Given the description of an element on the screen output the (x, y) to click on. 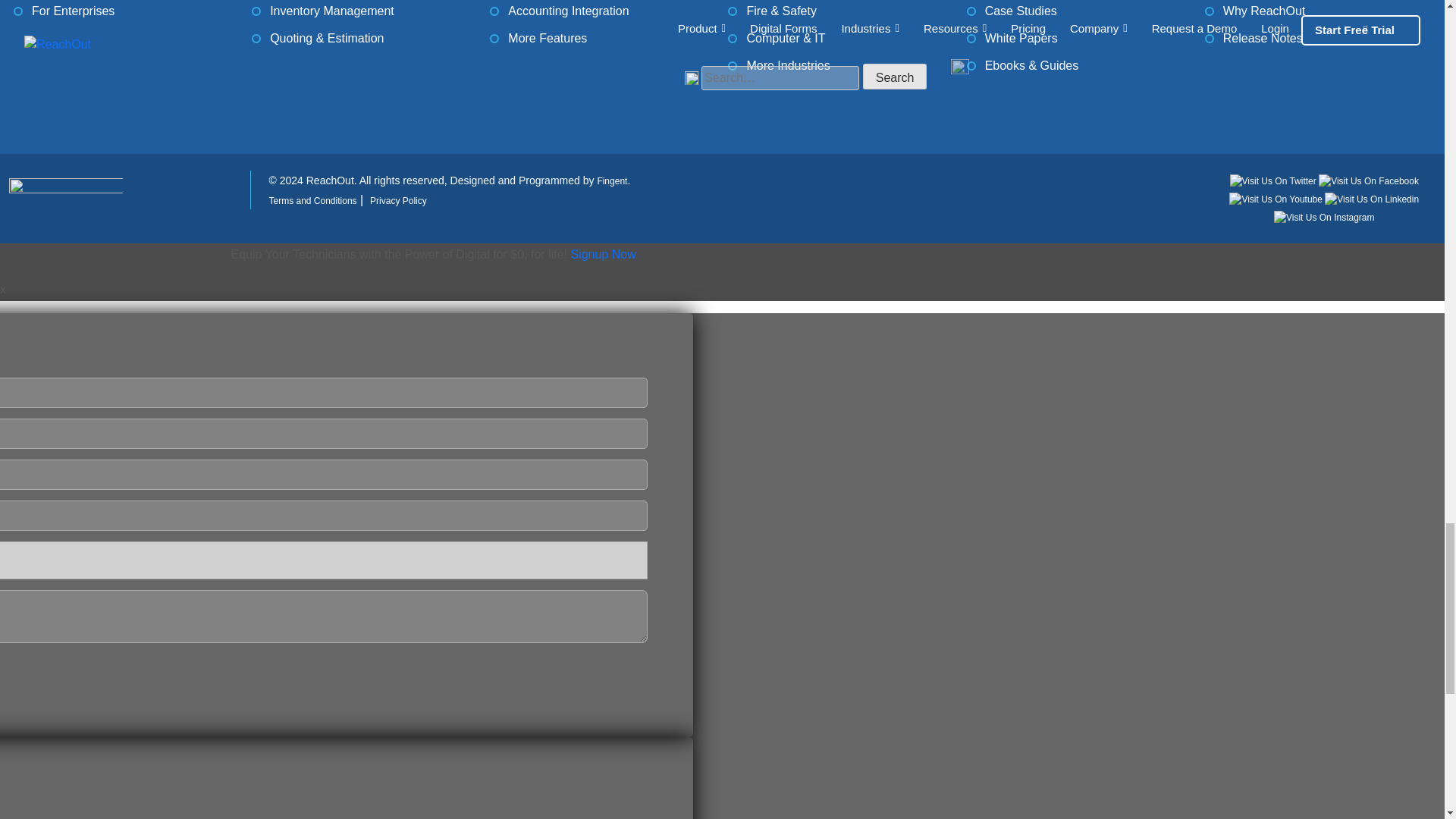
Visit Us On Twitter (1274, 180)
Visit Us On Linkedin (1371, 198)
Visit Us On Instagram (1324, 216)
Visit Us On Youtube (1276, 198)
Visit Us On Facebook (1368, 180)
